Given the description of an element on the screen output the (x, y) to click on. 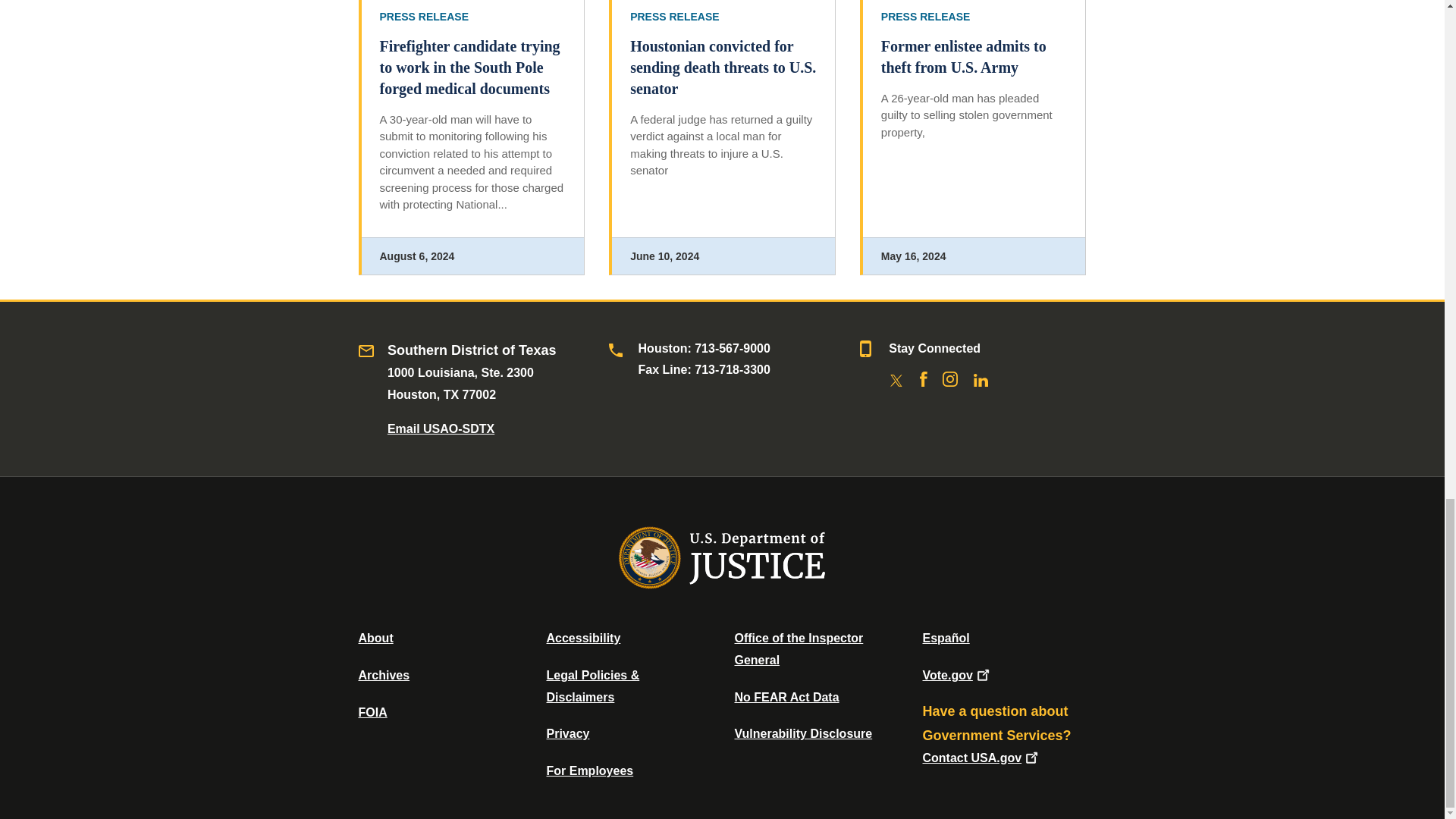
For Employees (589, 770)
Legal Policies and Disclaimers (592, 686)
About DOJ (375, 637)
Office of Information Policy (372, 712)
Data Posted Pursuant To The No Fear Act (785, 697)
Accessibility Statement (583, 637)
Department of Justice Archive (383, 675)
